Given the description of an element on the screen output the (x, y) to click on. 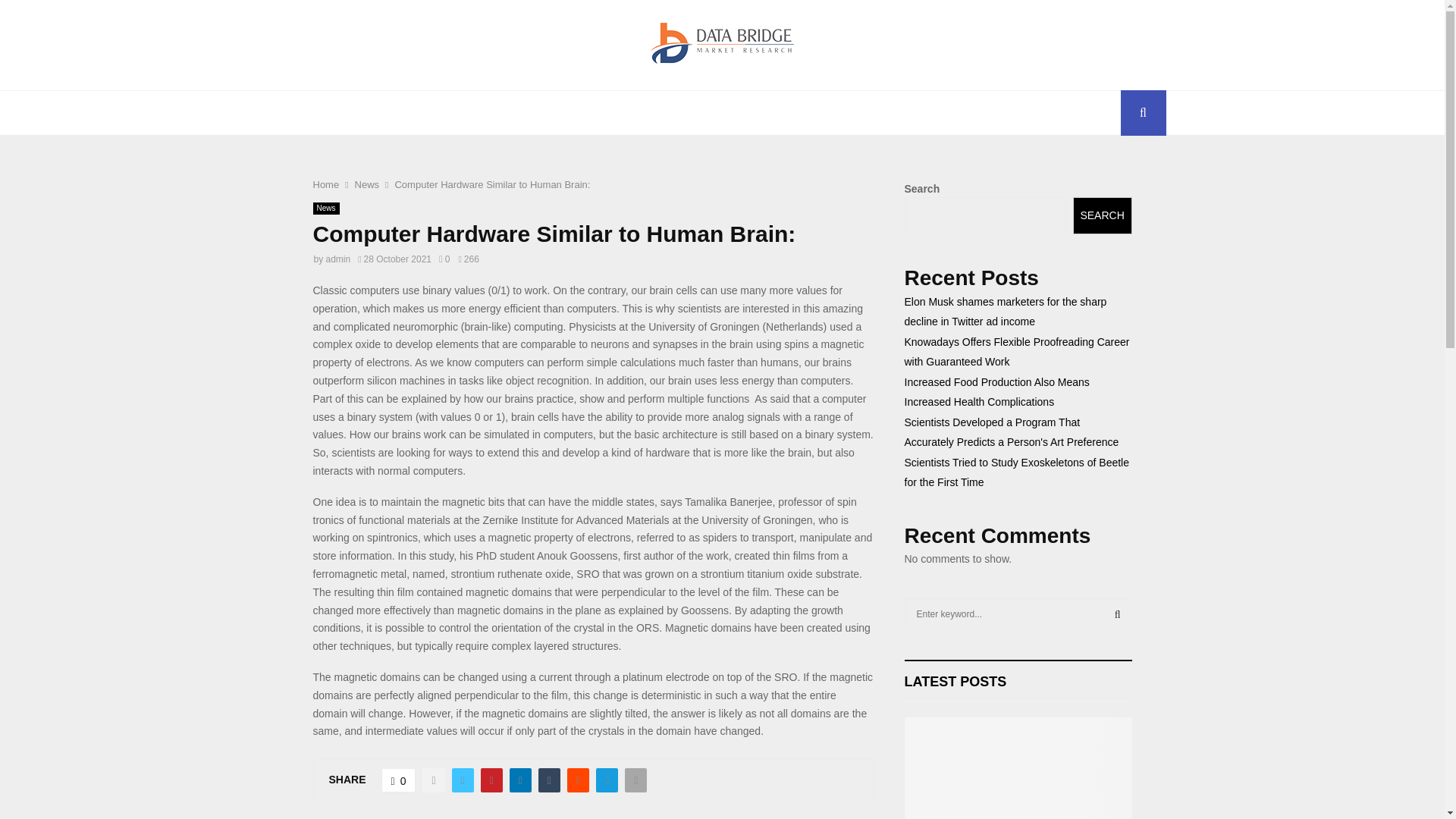
News (367, 184)
Computer Hardware Similar to Human Brain: (491, 184)
SEARCH (1102, 215)
0 (398, 780)
0 (444, 258)
News (326, 208)
